Given the description of an element on the screen output the (x, y) to click on. 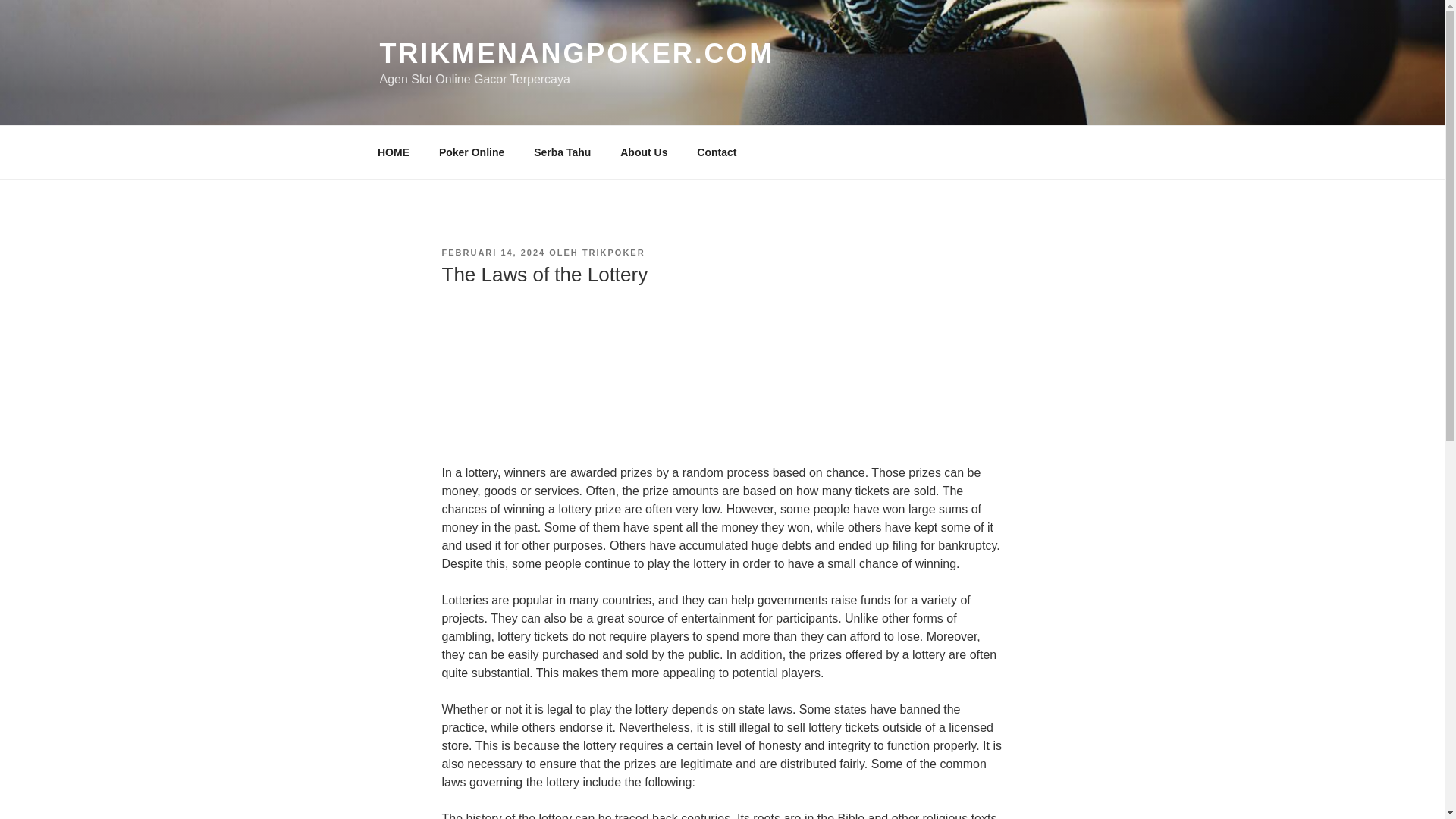
About Us (644, 151)
TRIKMENANGPOKER.COM (576, 52)
Poker Online (470, 151)
Serba Tahu (562, 151)
HOME (393, 151)
Contact (716, 151)
TRIKPOKER (613, 252)
FEBRUARI 14, 2024 (492, 252)
